Given the description of an element on the screen output the (x, y) to click on. 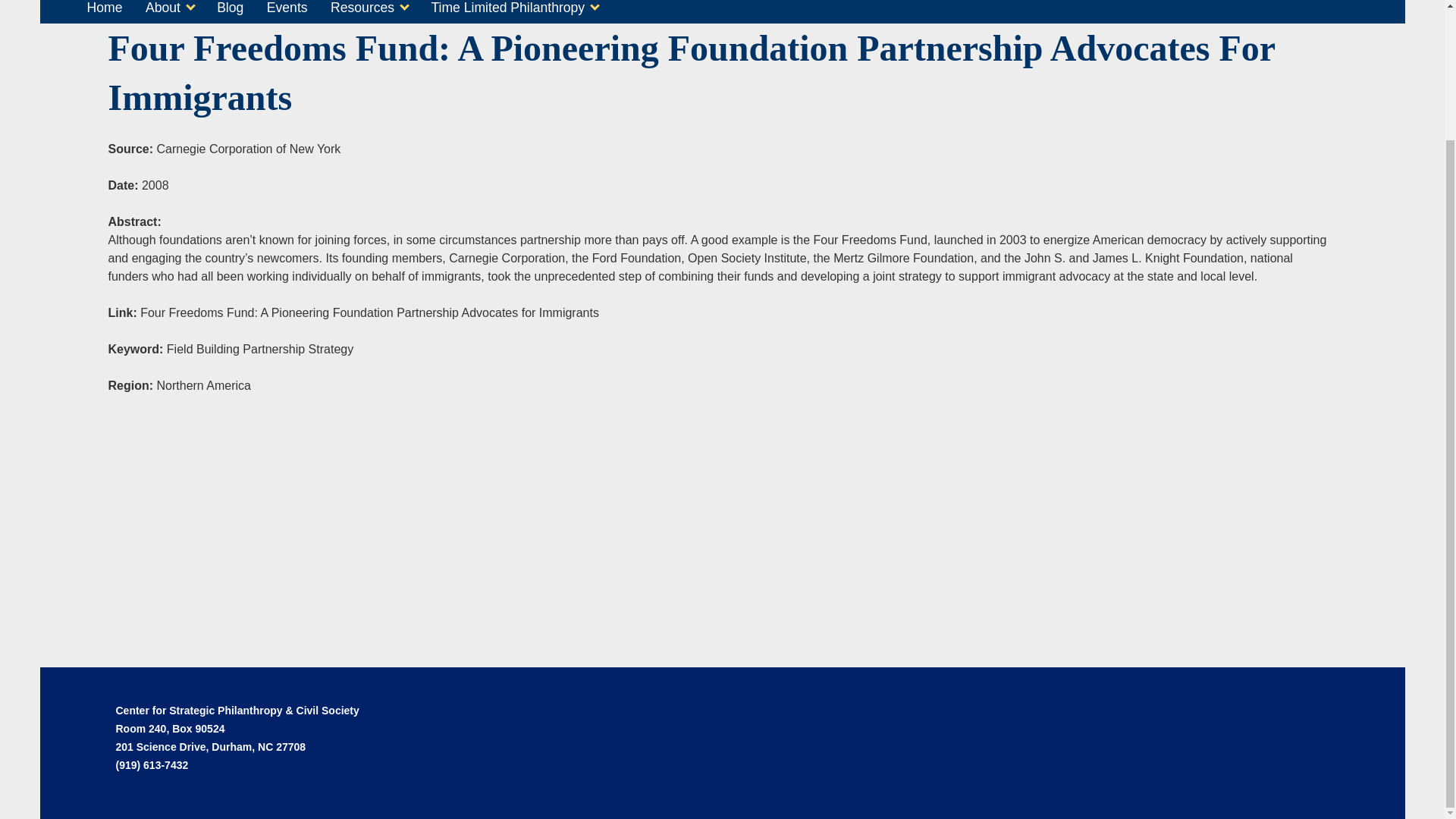
Time Limited Philanthropy (514, 10)
Resources (368, 10)
Events (287, 10)
About (169, 10)
Blog (229, 10)
Home (104, 10)
